Given the description of an element on the screen output the (x, y) to click on. 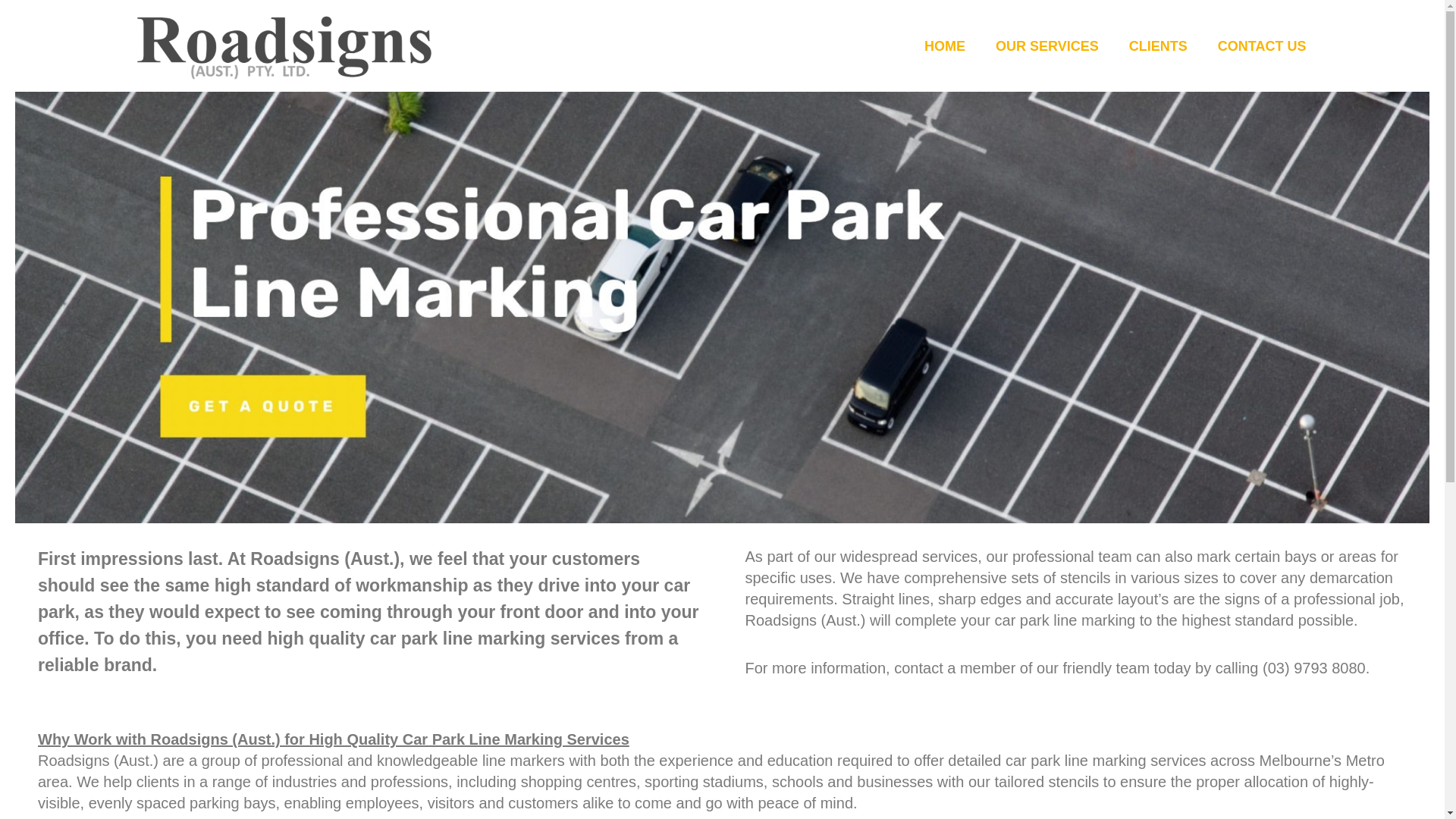
HOME (943, 45)
CONTACT US (1262, 45)
OUR SERVICES (1046, 45)
CLIENTS (1157, 45)
